Given the description of an element on the screen output the (x, y) to click on. 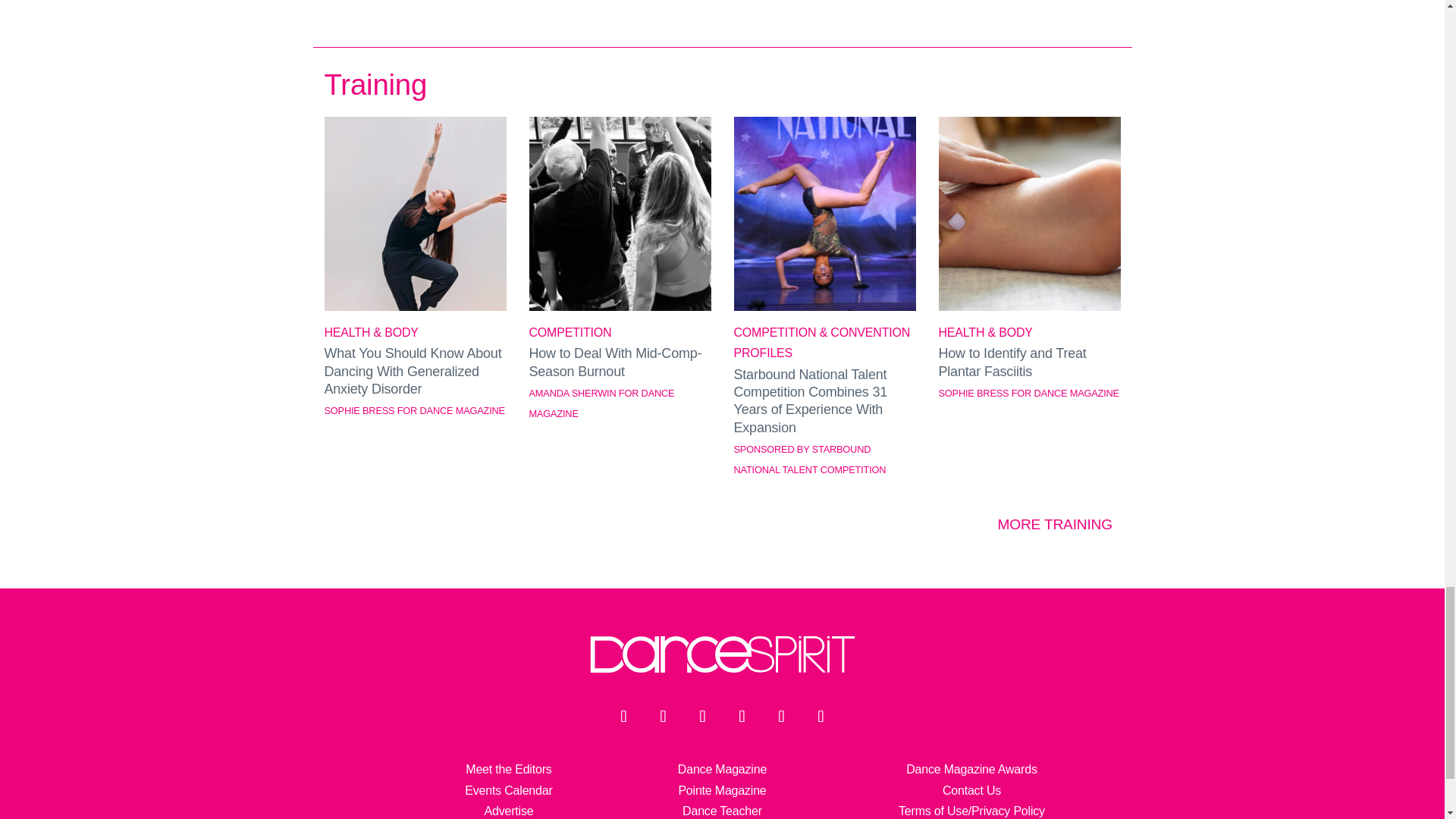
Follow on Instagram (702, 716)
Follow on LinkedIn (780, 716)
Follow on Youtube (741, 716)
Follow on Twitter (662, 716)
How to Deal With Mid-Comp-Season Burnout (620, 306)
Follow on Facebook (623, 716)
Follow on Pinterest (820, 716)
How to Identify and Treat Plantar Fasciitis (1030, 306)
